Given the description of an element on the screen output the (x, y) to click on. 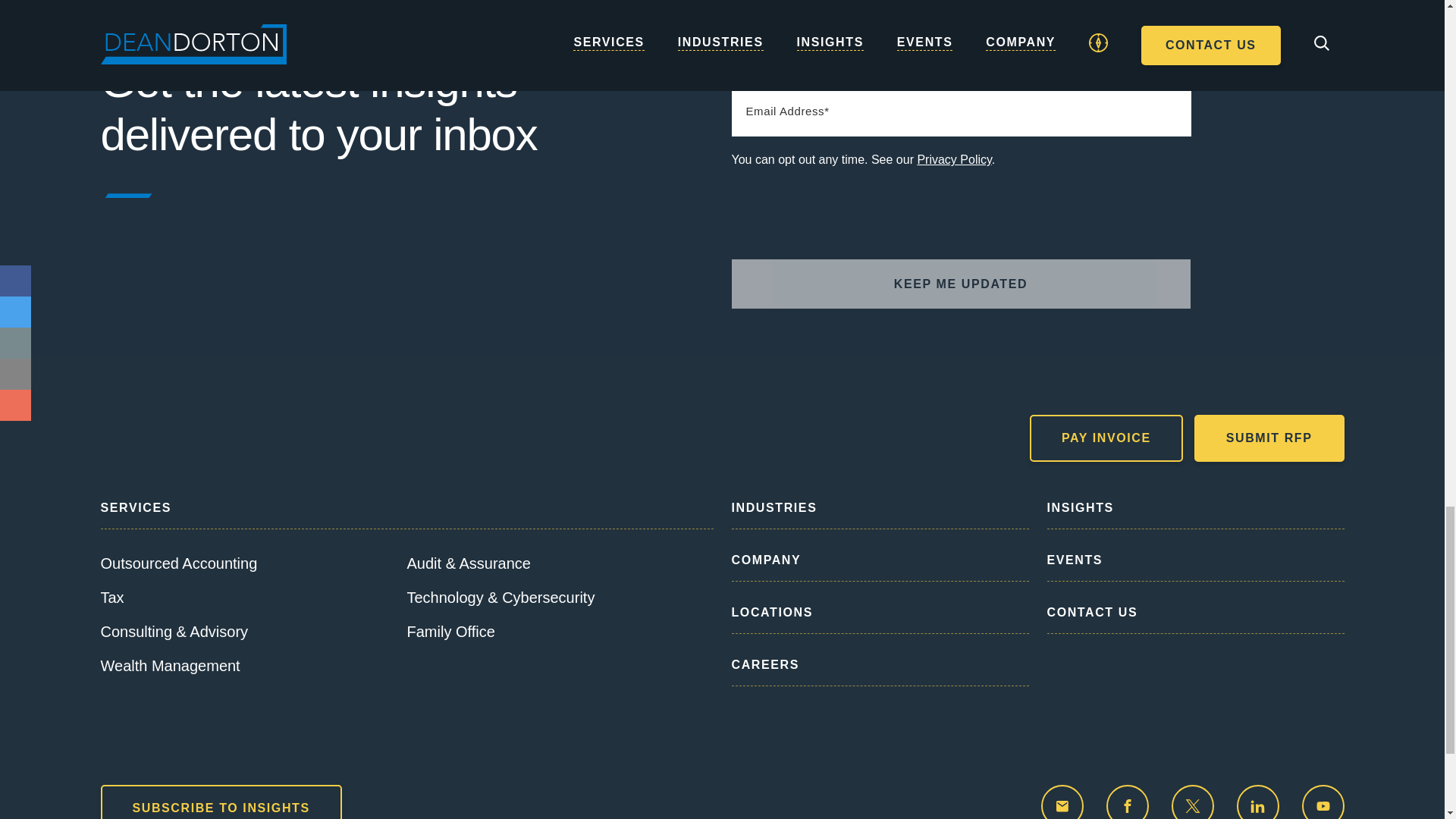
Dean Dorton - CPAs and Advisors on YouTube (1322, 801)
Dean Dorton - CPAs and Advisors on email (1062, 801)
Dean Dorton - CPAs and Advisors on LinkedIn (1257, 801)
Dean Dorton - CPAs and Advisors on twitter (1191, 801)
Dean Dorton - CPAs and Advisors on Facebook (1126, 801)
